Given the description of an element on the screen output the (x, y) to click on. 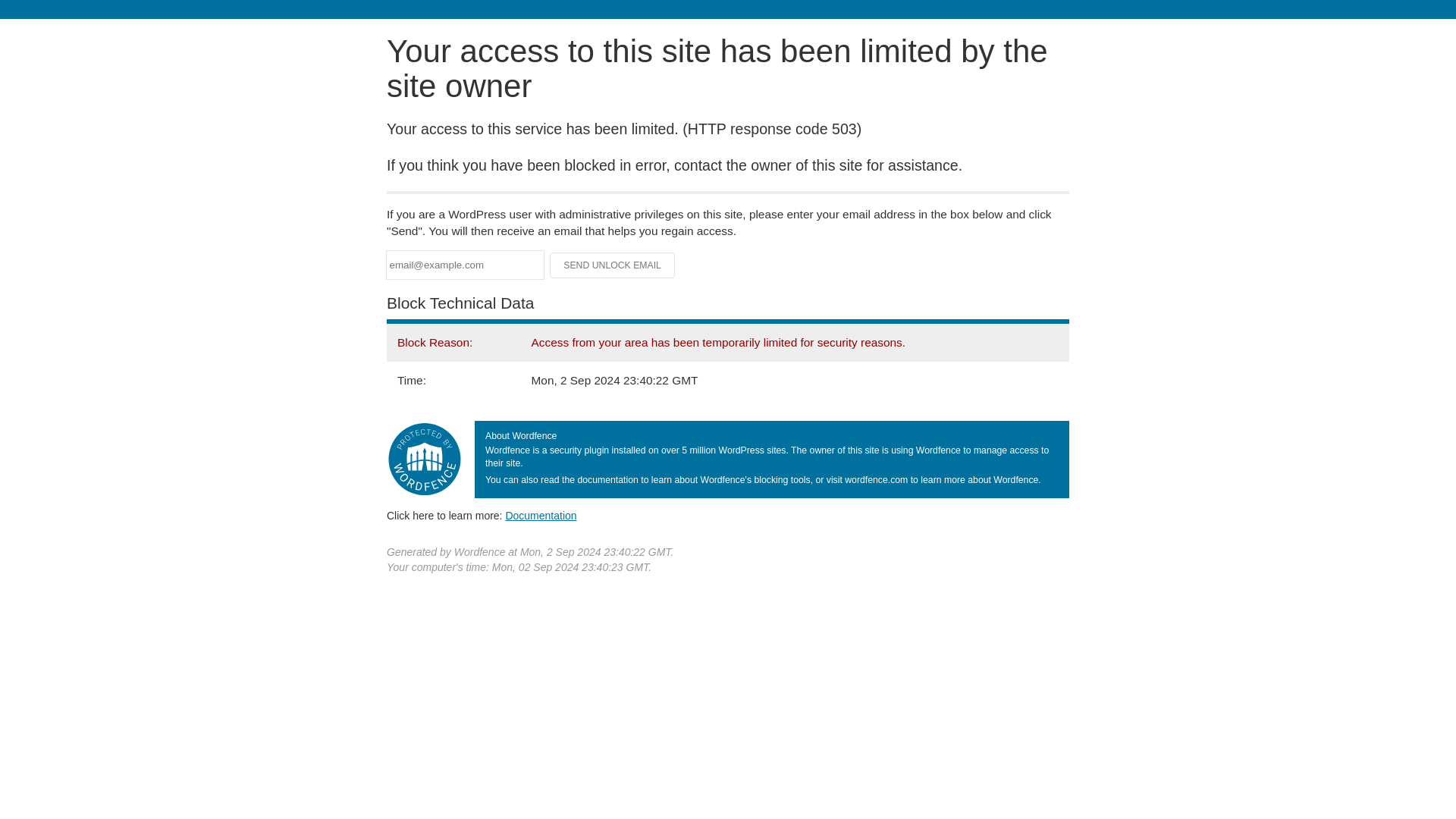
Send Unlock Email (612, 265)
Documentation (540, 515)
Send Unlock Email (612, 265)
